Given the description of an element on the screen output the (x, y) to click on. 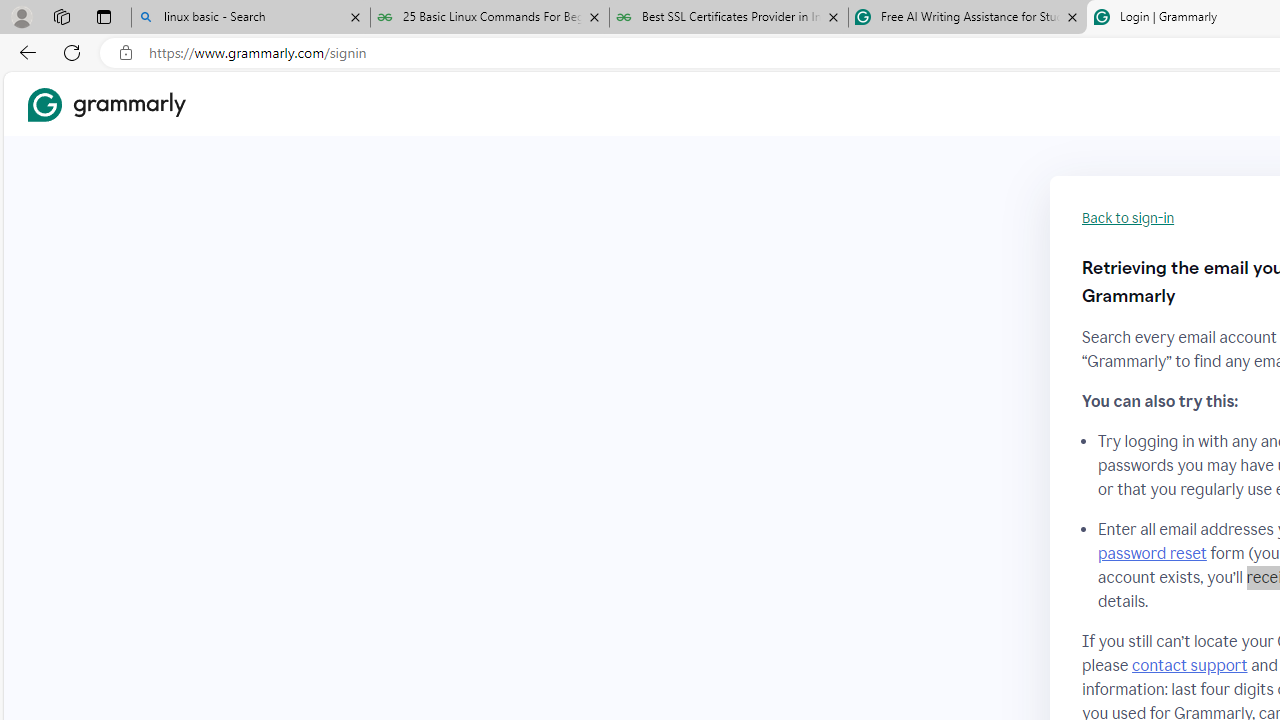
25 Basic Linux Commands For Beginners - GeeksforGeeks (490, 17)
Free AI Writing Assistance for Students | Grammarly (967, 17)
Back to sign-in (1128, 218)
Best SSL Certificates Provider in India - GeeksforGeeks (729, 17)
linux basic - Search (250, 17)
Grammarly Home (106, 103)
password reset (1152, 553)
contact support (1189, 665)
